Given the description of an element on the screen output the (x, y) to click on. 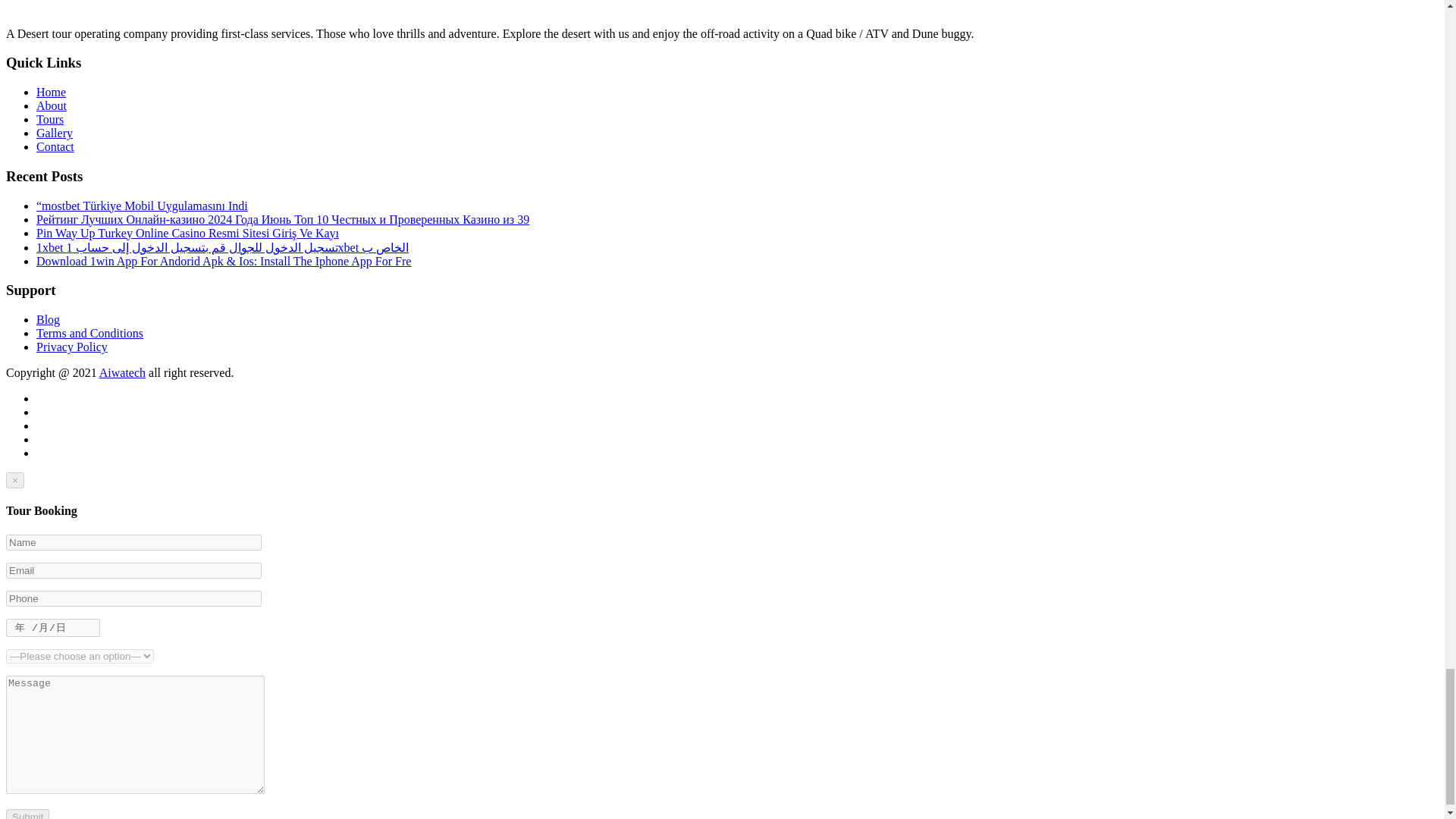
Terms and Conditions (89, 332)
Blog (47, 318)
Tours (50, 119)
About (51, 105)
Gallery (54, 132)
Home (50, 91)
Privacy Policy (71, 346)
Contact (55, 146)
Aiwatech (122, 372)
